Given the description of an element on the screen output the (x, y) to click on. 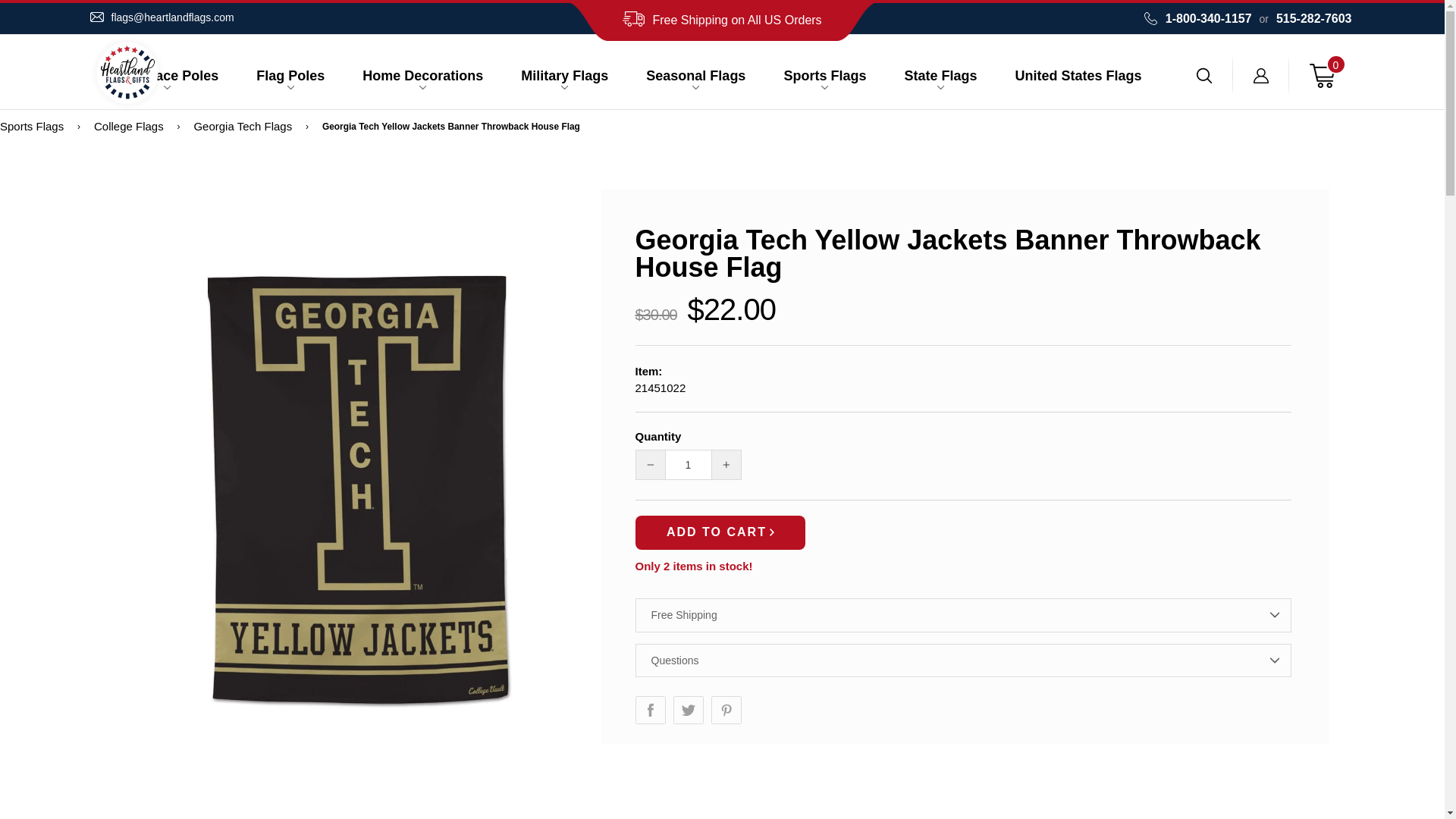
College Flags (128, 126)
1 (687, 464)
Georgia Tech Flags (242, 126)
Sports Flags (32, 126)
tel:515-282-7603 (1311, 18)
Share on Facebook (649, 709)
tel:1-800-340-1157 (1208, 18)
1-800-340-1157 (1208, 18)
Tweet on Twitter (687, 709)
515-282-7603 (1311, 18)
Pin on Pinterest (726, 709)
